Given the description of an element on the screen output the (x, y) to click on. 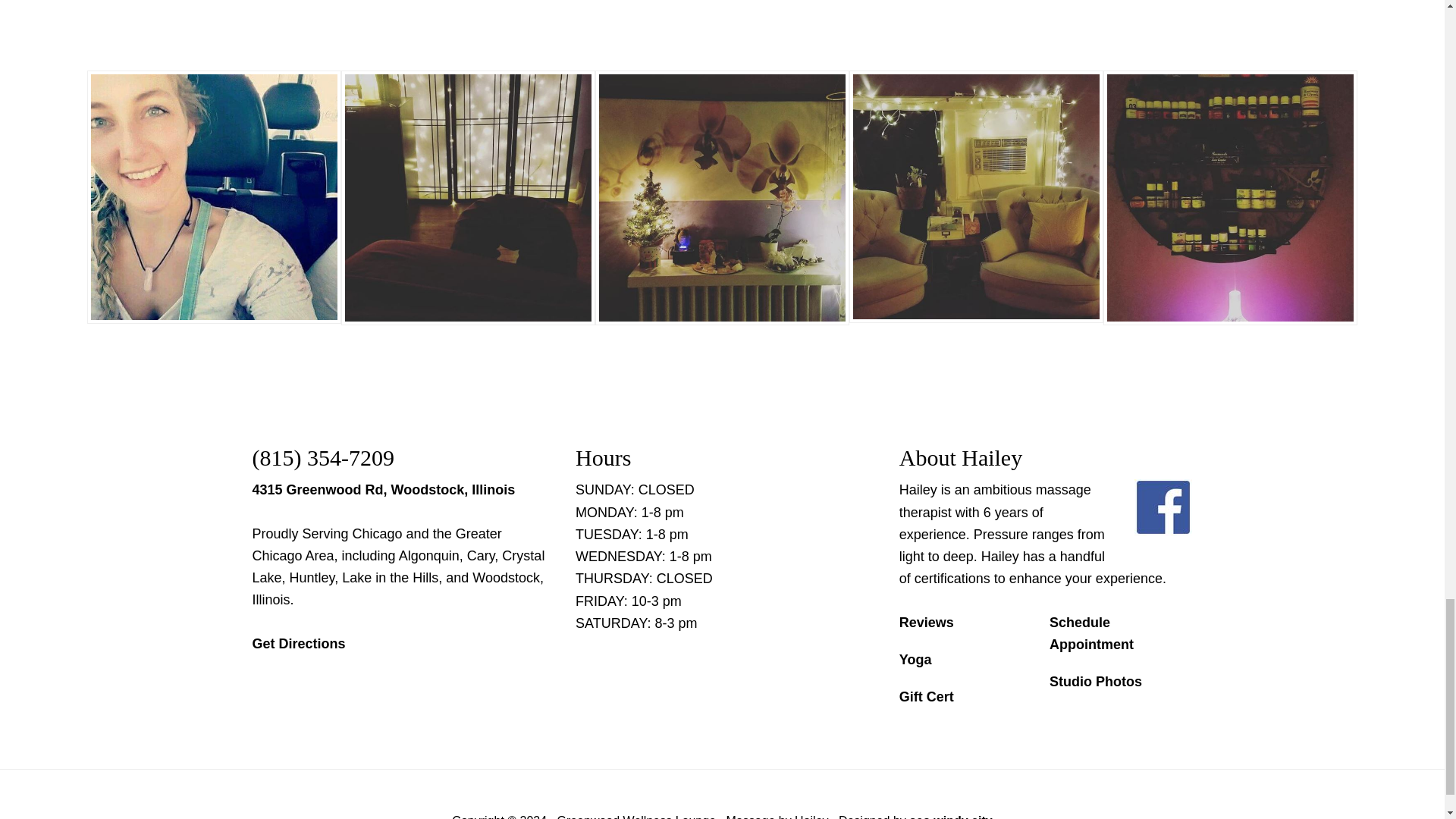
Studio Photos (1095, 681)
Schedule Appointment (1091, 633)
Yoga (915, 659)
Reviews (926, 622)
Get Directions (298, 643)
Gift Cert (926, 696)
seo windy city (949, 816)
4315 Greenwood Rd, Woodstock, Illinois (383, 489)
